Given the description of an element on the screen output the (x, y) to click on. 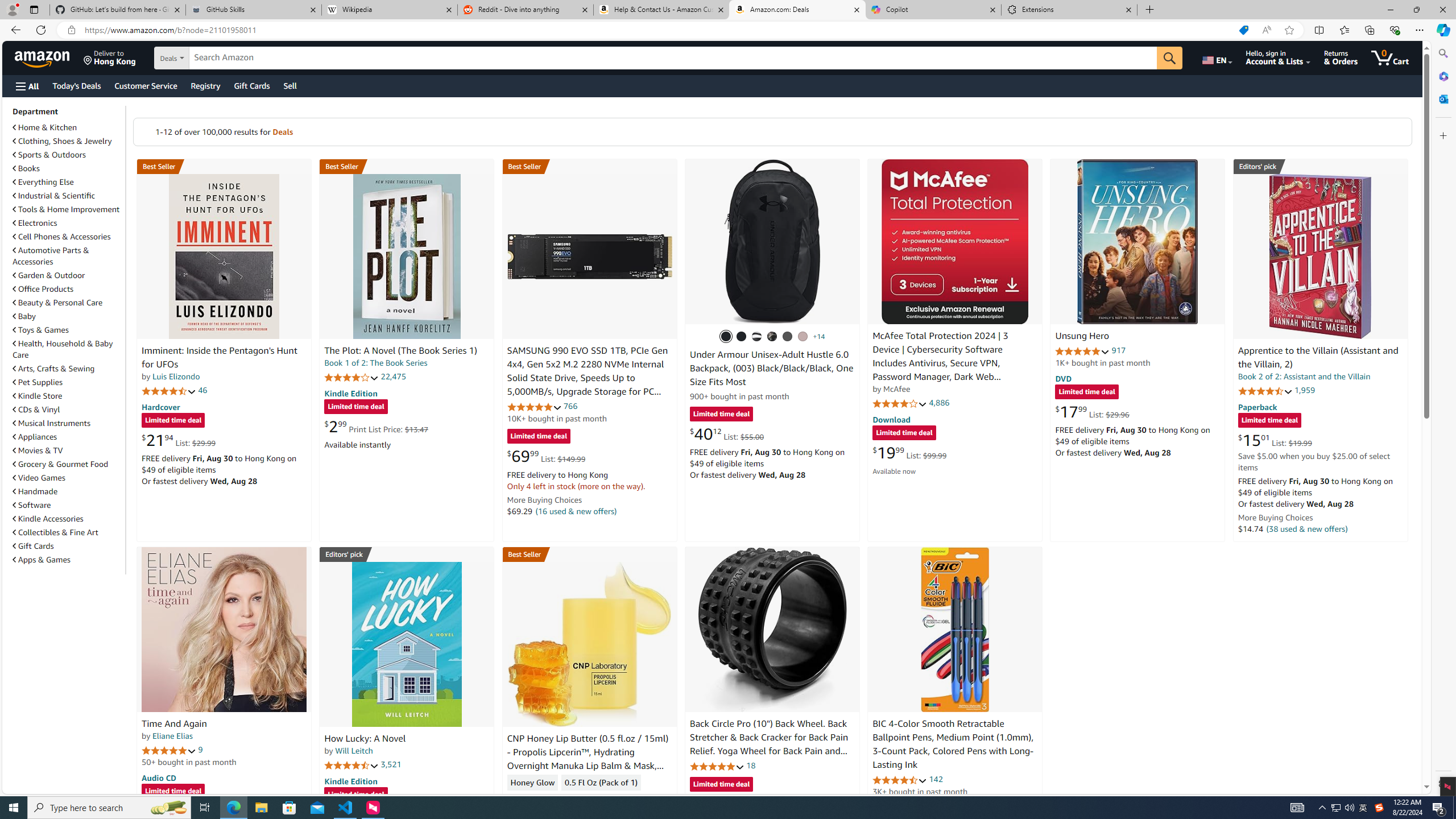
(015) Tetra Gray / Tetra Gray / Gray Matter (802, 336)
How Lucky: A Novel (365, 738)
Musical Instruments (67, 423)
Reddit - Dive into anything (525, 9)
Software (67, 505)
766 (570, 406)
(38 used & new offers) (1307, 528)
Best Seller in Internal Solid State Drives (589, 165)
Book 1 of 2: The Book Series (376, 362)
Industrial & Scientific (54, 195)
Apprentice to the Villain (Assistant and the Villain, 2) (1318, 358)
